Given the description of an element on the screen output the (x, y) to click on. 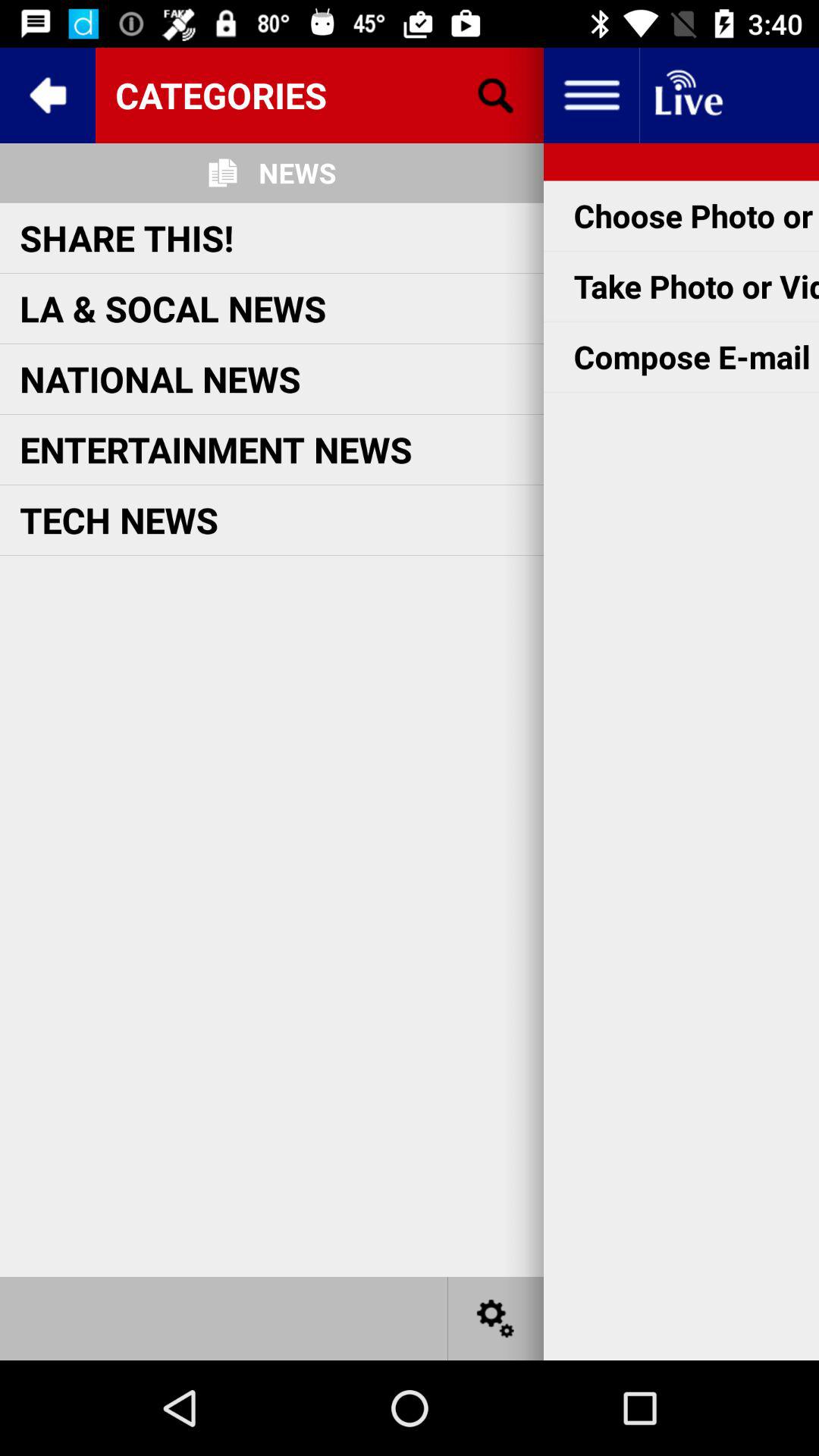
launch item above national news item (172, 308)
